Given the description of an element on the screen output the (x, y) to click on. 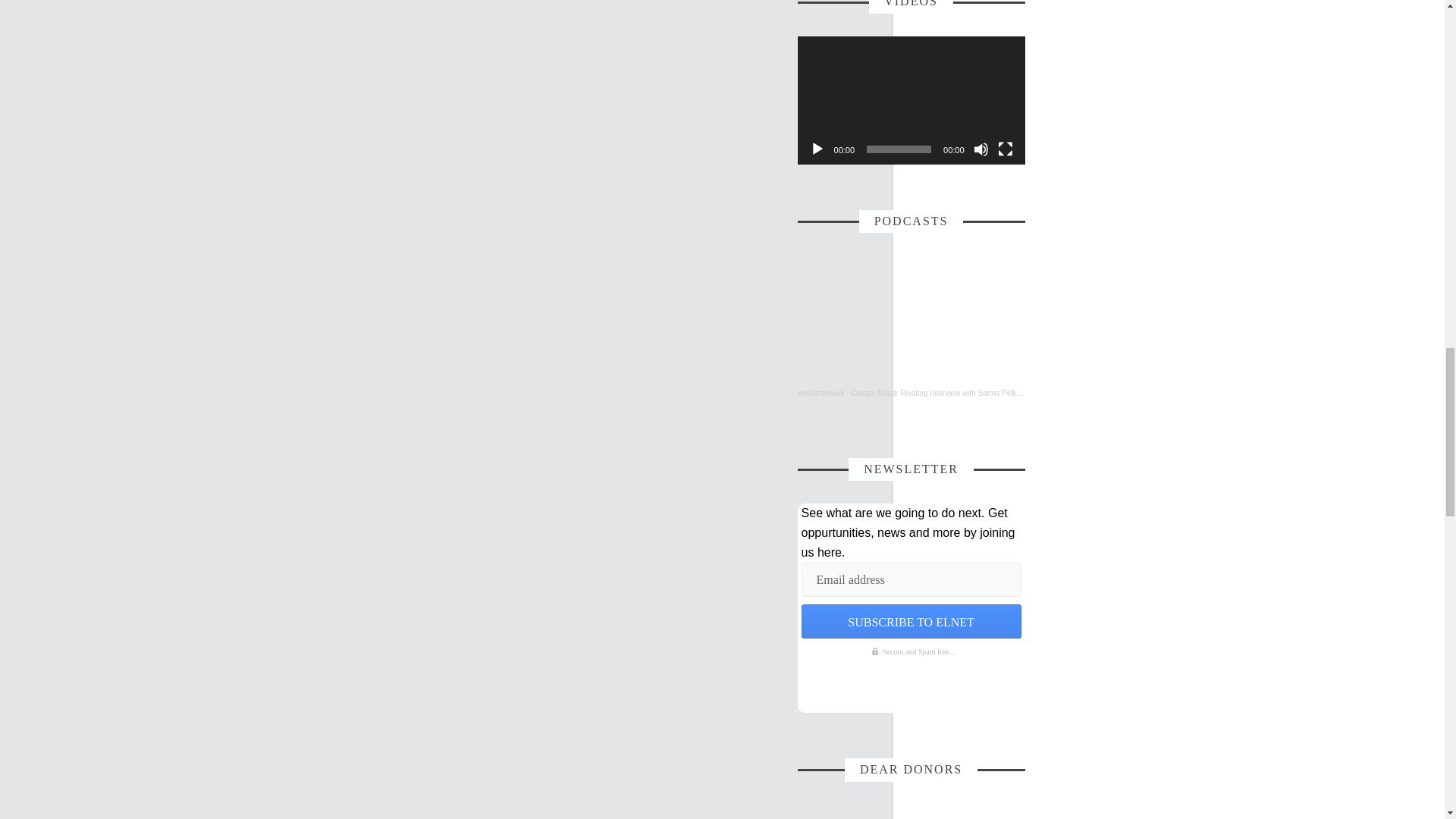
eurolitnetwork (820, 393)
Europe Readr Riveting Interview with Sanna Pelliccioni (942, 393)
Mute (981, 149)
Play (817, 149)
Fullscreen (1005, 149)
